Given the description of an element on the screen output the (x, y) to click on. 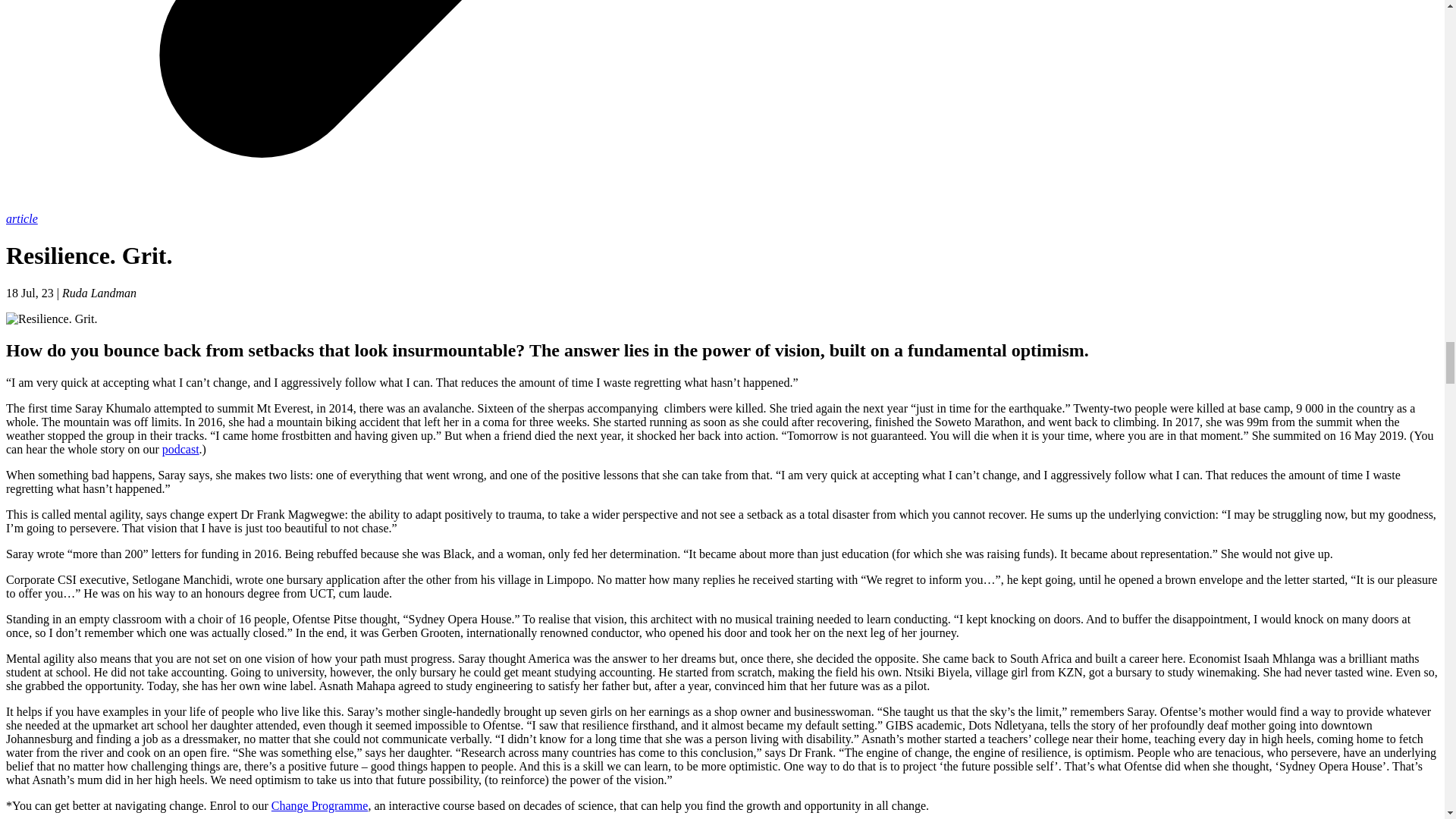
Change Programme (319, 805)
podcast (180, 449)
article (21, 218)
